Given the description of an element on the screen output the (x, y) to click on. 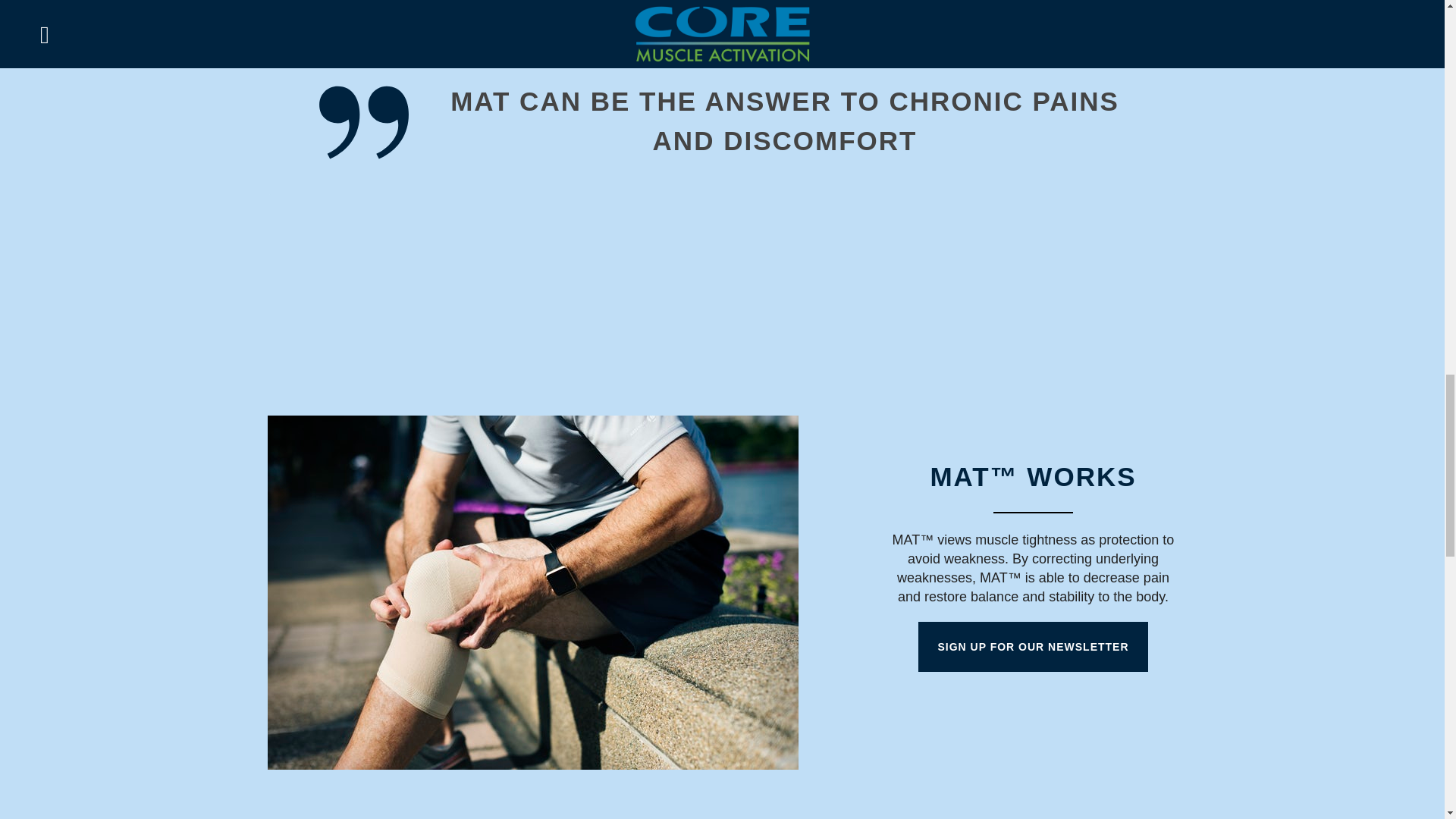
SIGN UP FOR OUR NEWSLETTER (1032, 646)
